Given the description of an element on the screen output the (x, y) to click on. 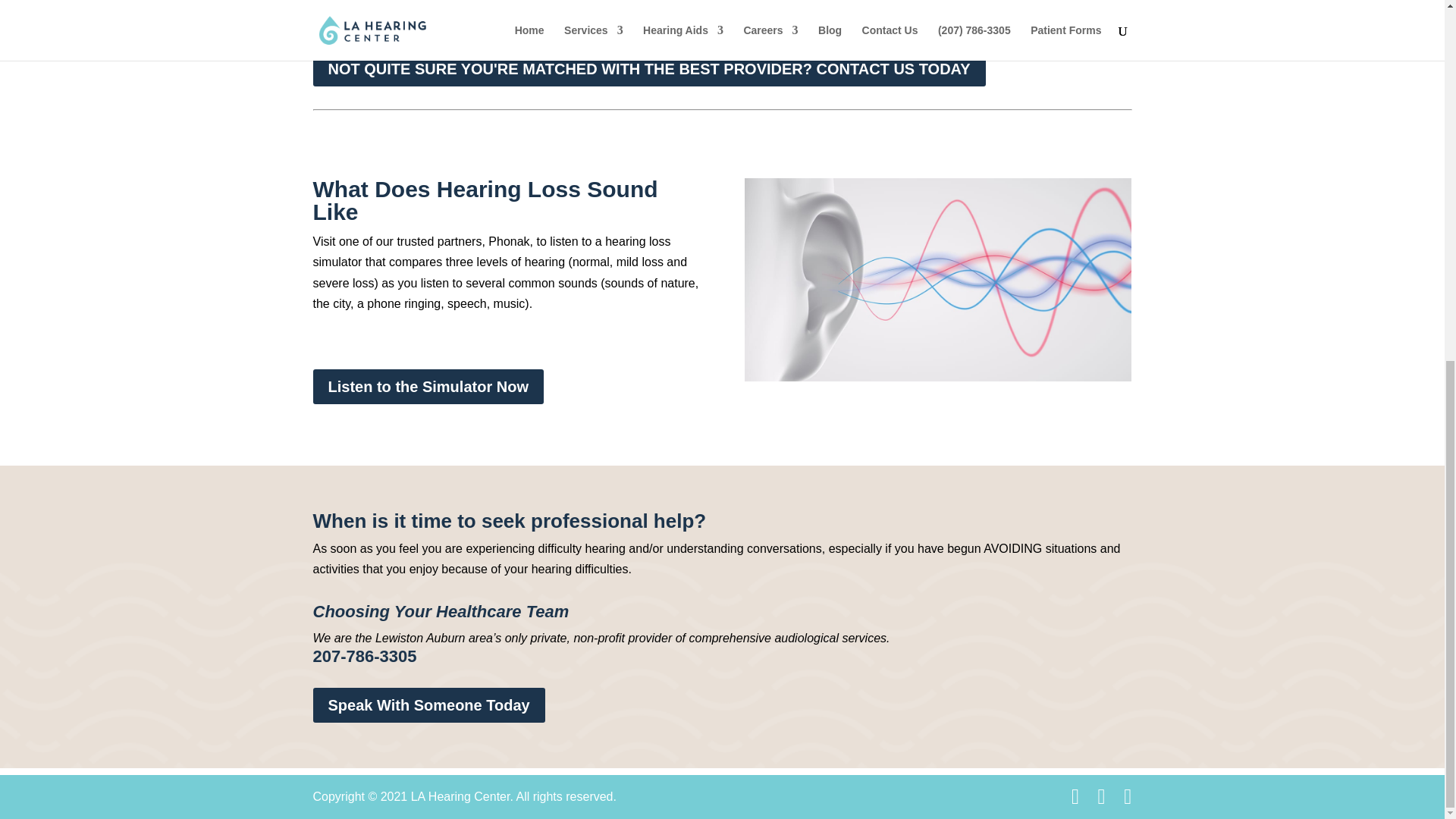
Listen to the Simulator Now (428, 386)
Speak With Someone Today (428, 704)
